Given the description of an element on the screen output the (x, y) to click on. 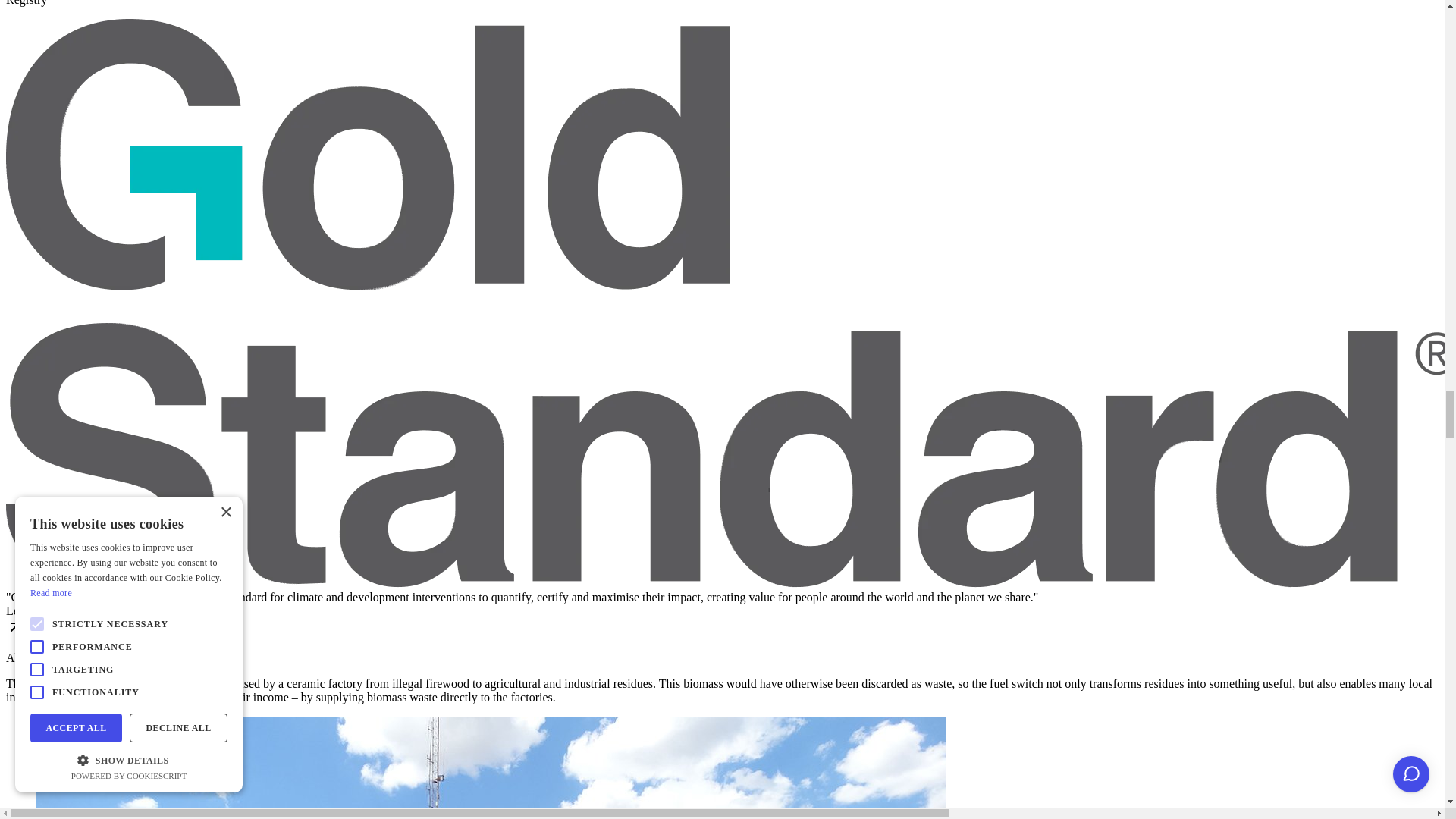
Learn more (721, 621)
